Given the description of an element on the screen output the (x, y) to click on. 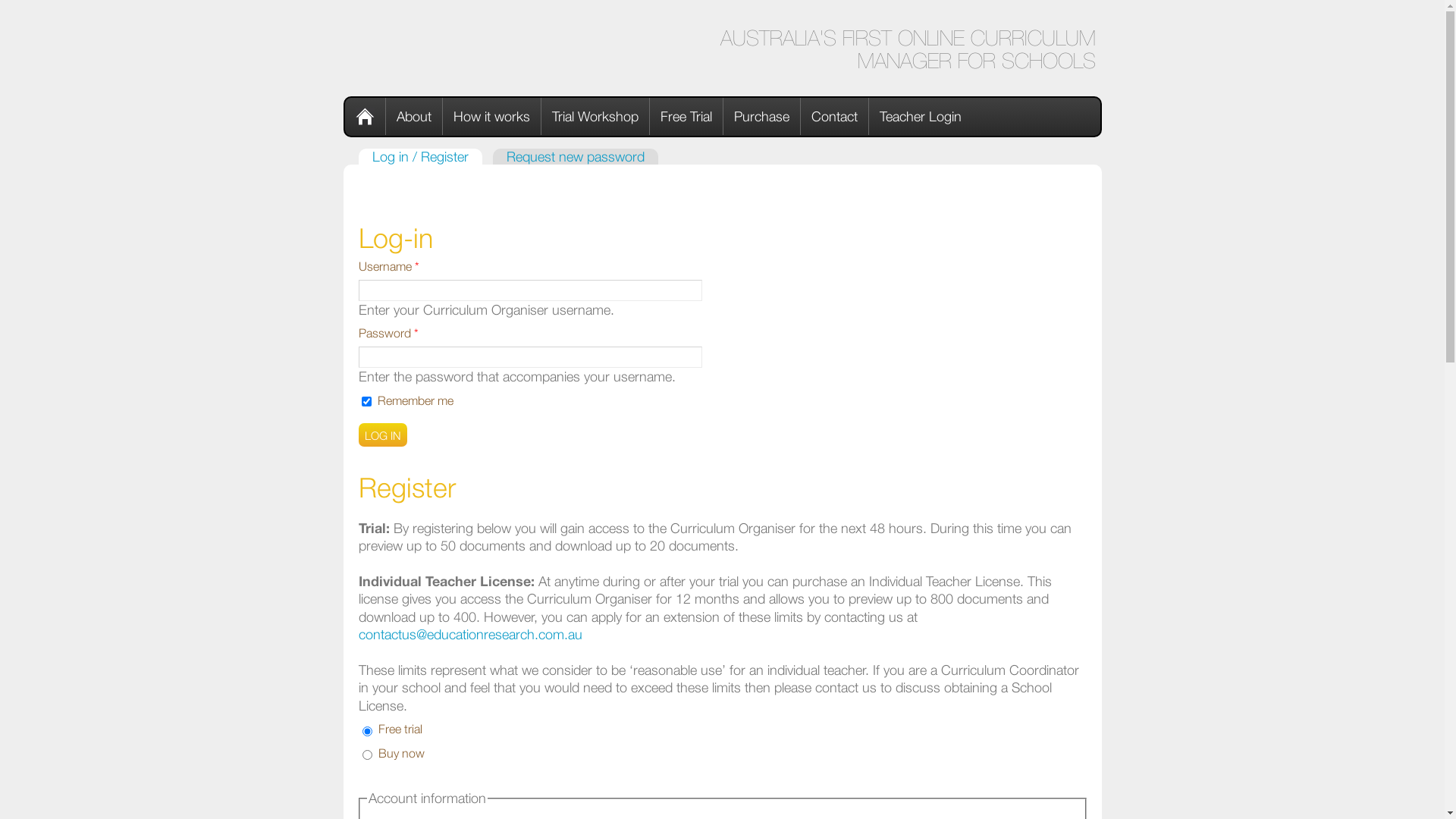
Purchase Element type: text (761, 115)
Log in / Register
(active tab) Element type: text (419, 156)
Skip to main content Element type: text (59, 3)
Teacher Login Element type: text (920, 115)
Home Element type: text (364, 115)
Trial Workshop Element type: text (595, 115)
Contact Element type: text (834, 115)
Free Trial Element type: text (685, 115)
About Element type: text (413, 115)
How it works Element type: text (491, 115)
contactus@educationresearch.com.au Element type: text (469, 634)
Log in Element type: text (381, 434)
Request new password Element type: text (575, 156)
